Given the description of an element on the screen output the (x, y) to click on. 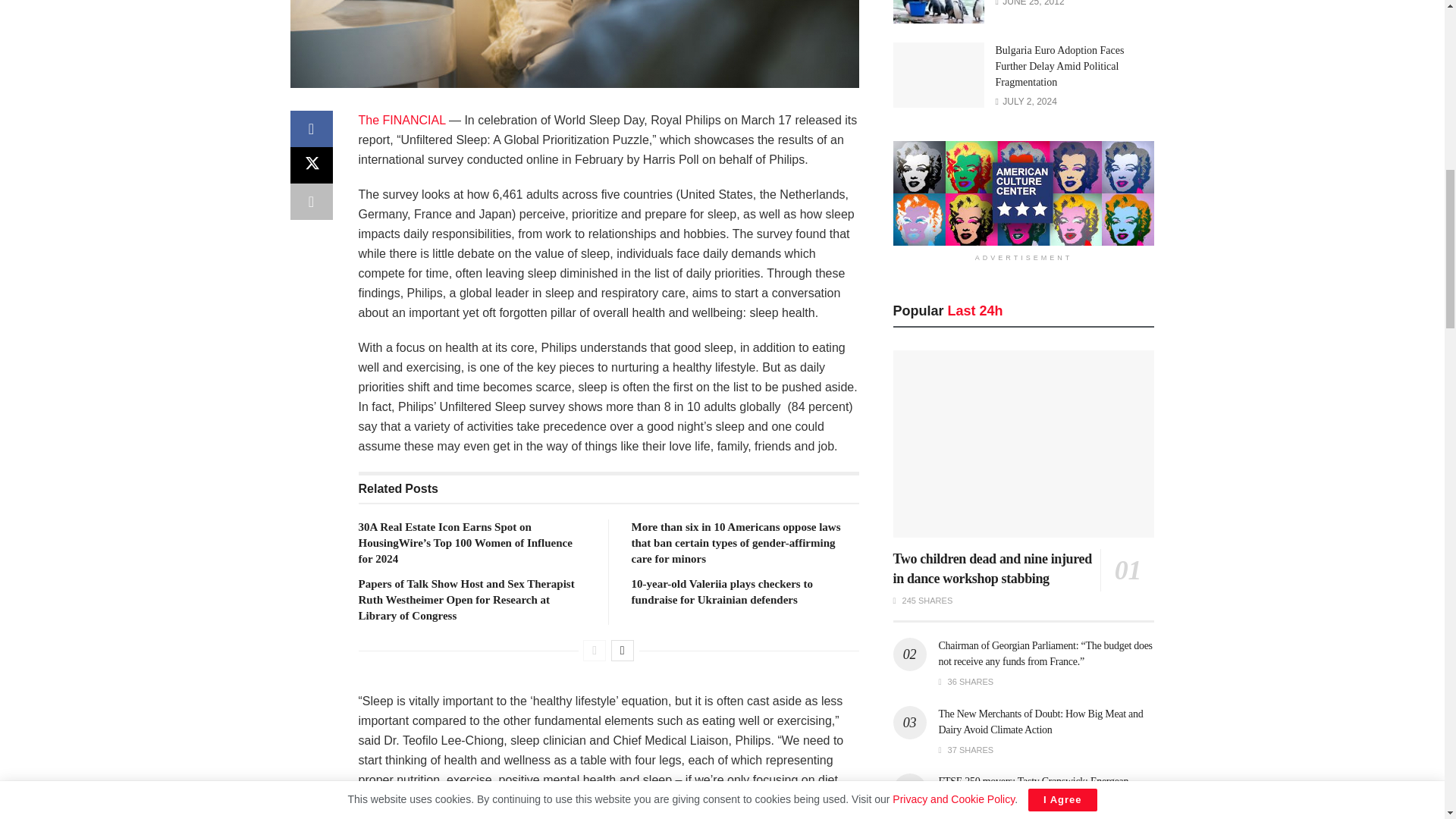
Next (622, 649)
The FINANCIAL (401, 119)
Previous (594, 649)
